Given the description of an element on the screen output the (x, y) to click on. 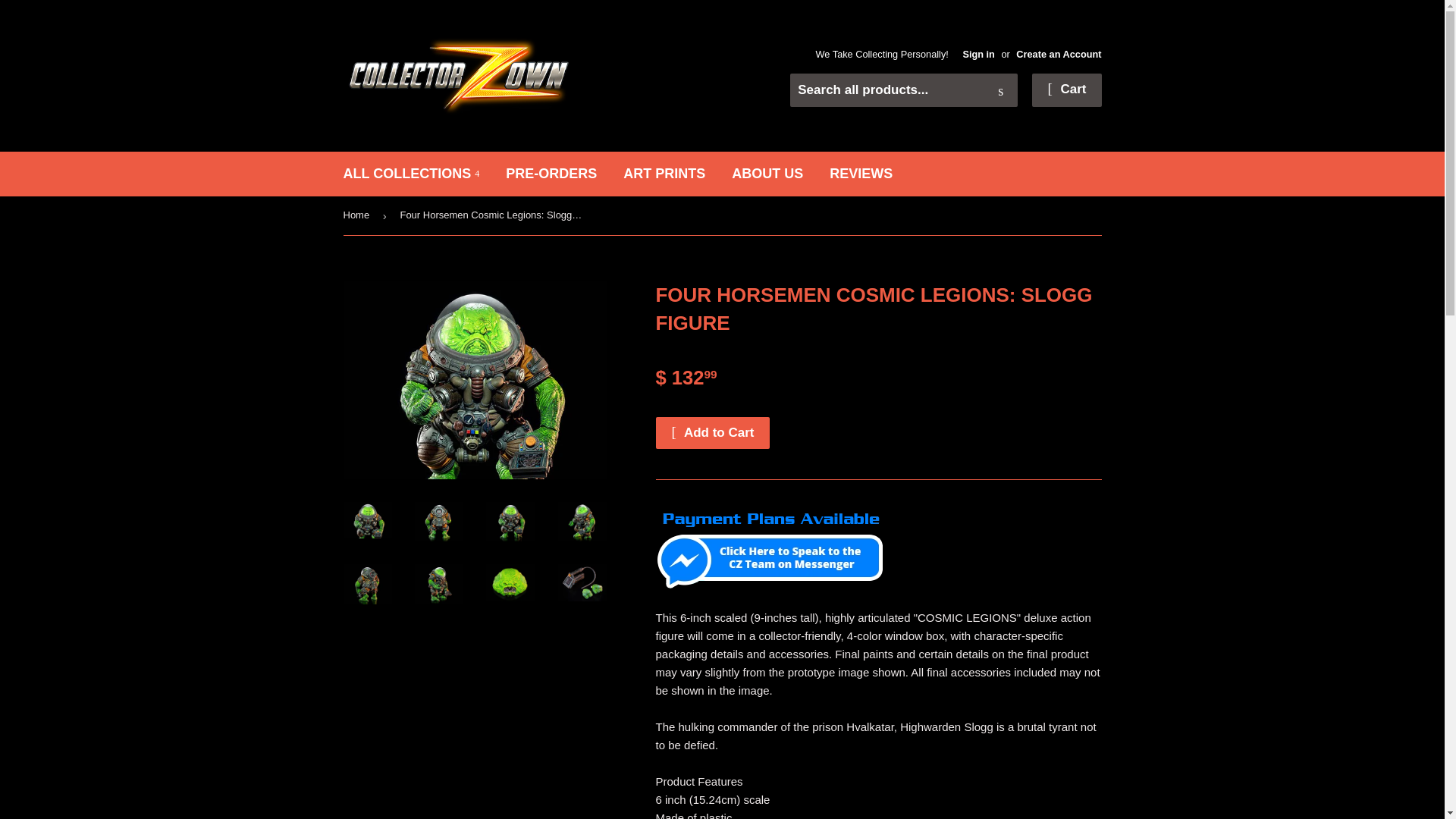
ALL COLLECTIONS (411, 173)
Search (1000, 91)
Sign in (978, 53)
ABOUT US (766, 173)
REVIEWS (861, 173)
PRE-ORDERS (551, 173)
Create an Account (1058, 53)
ART PRINTS (663, 173)
Cart (1066, 90)
